Given the description of an element on the screen output the (x, y) to click on. 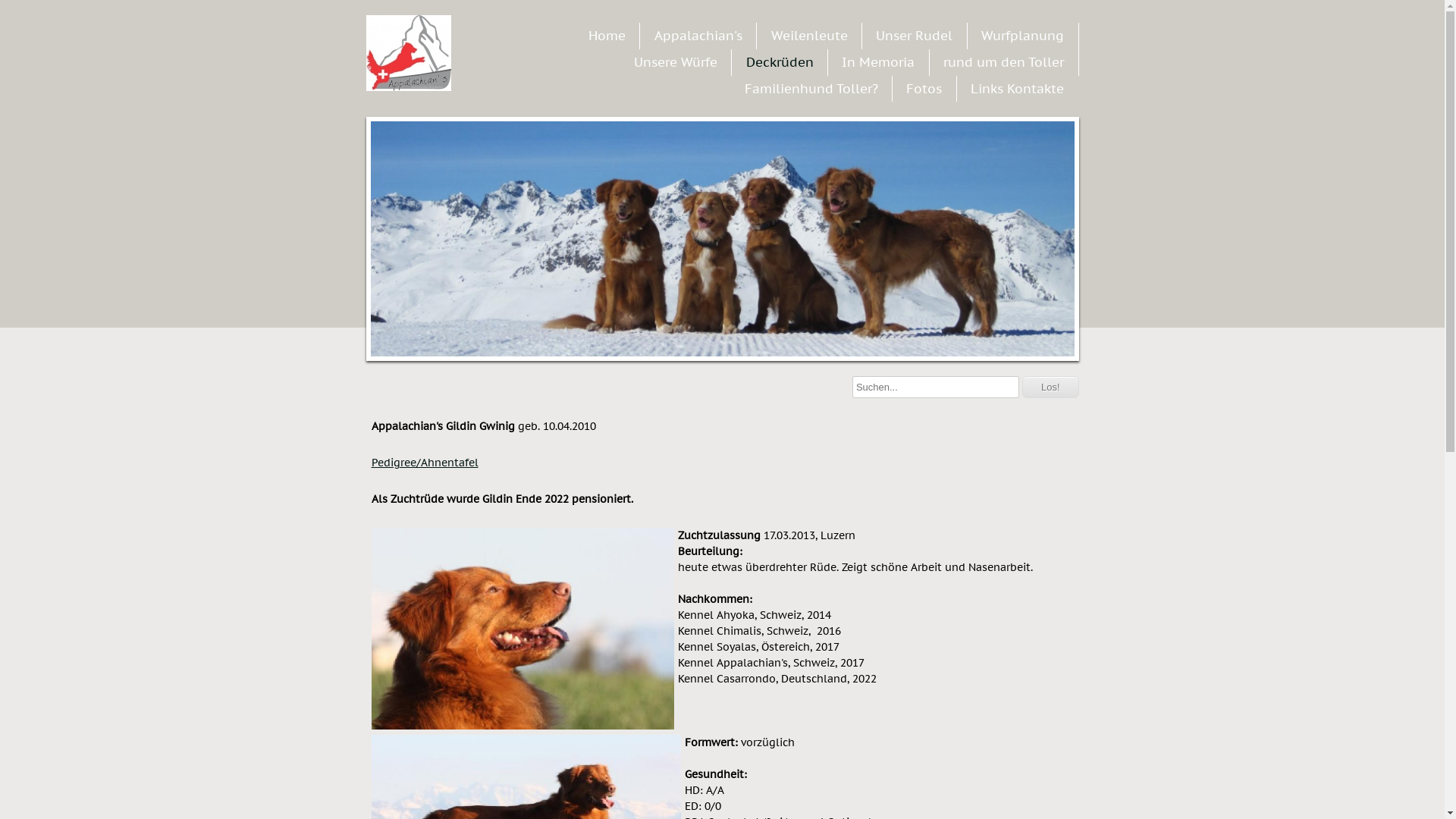
Unser Rudel Element type: text (914, 35)
Los! Element type: text (1050, 387)
Fotos Element type: text (923, 88)
In Memoria Element type: text (878, 62)
rund um den Toller Element type: text (1003, 62)
Appalachian's Element type: text (697, 35)
Home Element type: text (606, 35)
Familienhund Toller? Element type: text (811, 88)
Links Kontakte Element type: text (1017, 88)
Weilenleute Element type: text (809, 35)
Wurfplanung Element type: text (1022, 35)
Pedigree/Ahnentafel Element type: text (424, 462)
